Given the description of an element on the screen output the (x, y) to click on. 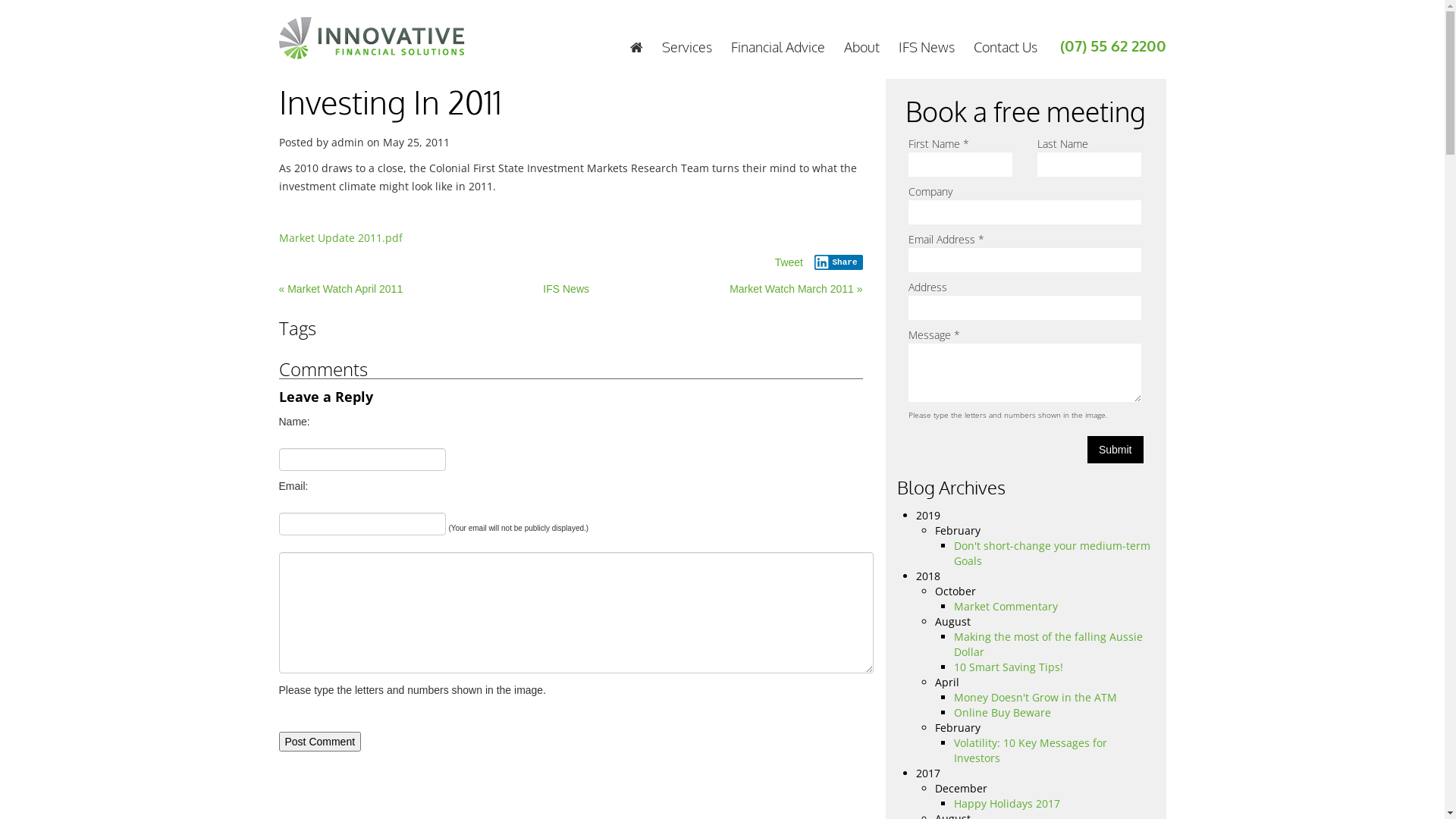
Money Doesn't Grow in the ATM Element type: text (1035, 697)
Services Element type: text (686, 46)
Happy Holidays 2017 Element type: text (1006, 803)
Don't short-change your medium-term Goals Element type: text (1051, 552)
IFS News Element type: text (565, 288)
Contact Us Element type: text (1005, 46)
IFS News Element type: text (925, 46)
Financial Advice Element type: text (778, 46)
Online Buy Beware Element type: text (1002, 712)
Making the most of the falling Aussie Dollar Element type: text (1047, 643)
Share Element type: text (838, 261)
Market Commentary Element type: text (1005, 606)
Submit Element type: text (1115, 449)
Post Comment Element type: text (320, 741)
Market Update 2011.pdf Element type: text (340, 237)
About Element type: text (860, 46)
Tweet Element type: text (789, 262)
Volatility: 10 Key Messages for Investors Element type: text (1030, 750)
(07) 55 62 2200 Element type: text (1113, 45)
10 Smart Saving Tips! Element type: text (1008, 666)
